Given the description of an element on the screen output the (x, y) to click on. 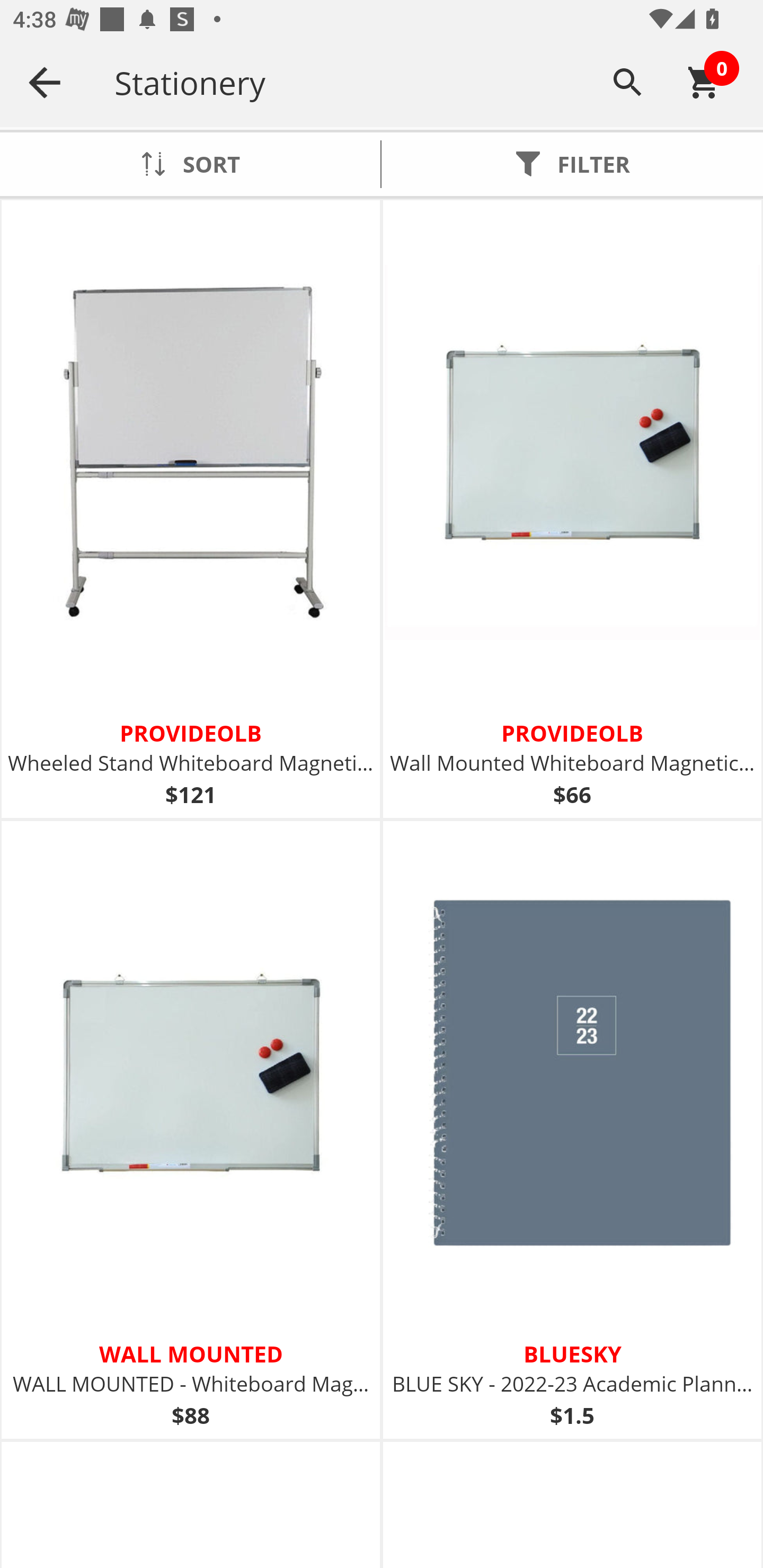
Navigate up (44, 82)
SORT (190, 163)
FILTER (572, 163)
